Given the description of an element on the screen output the (x, y) to click on. 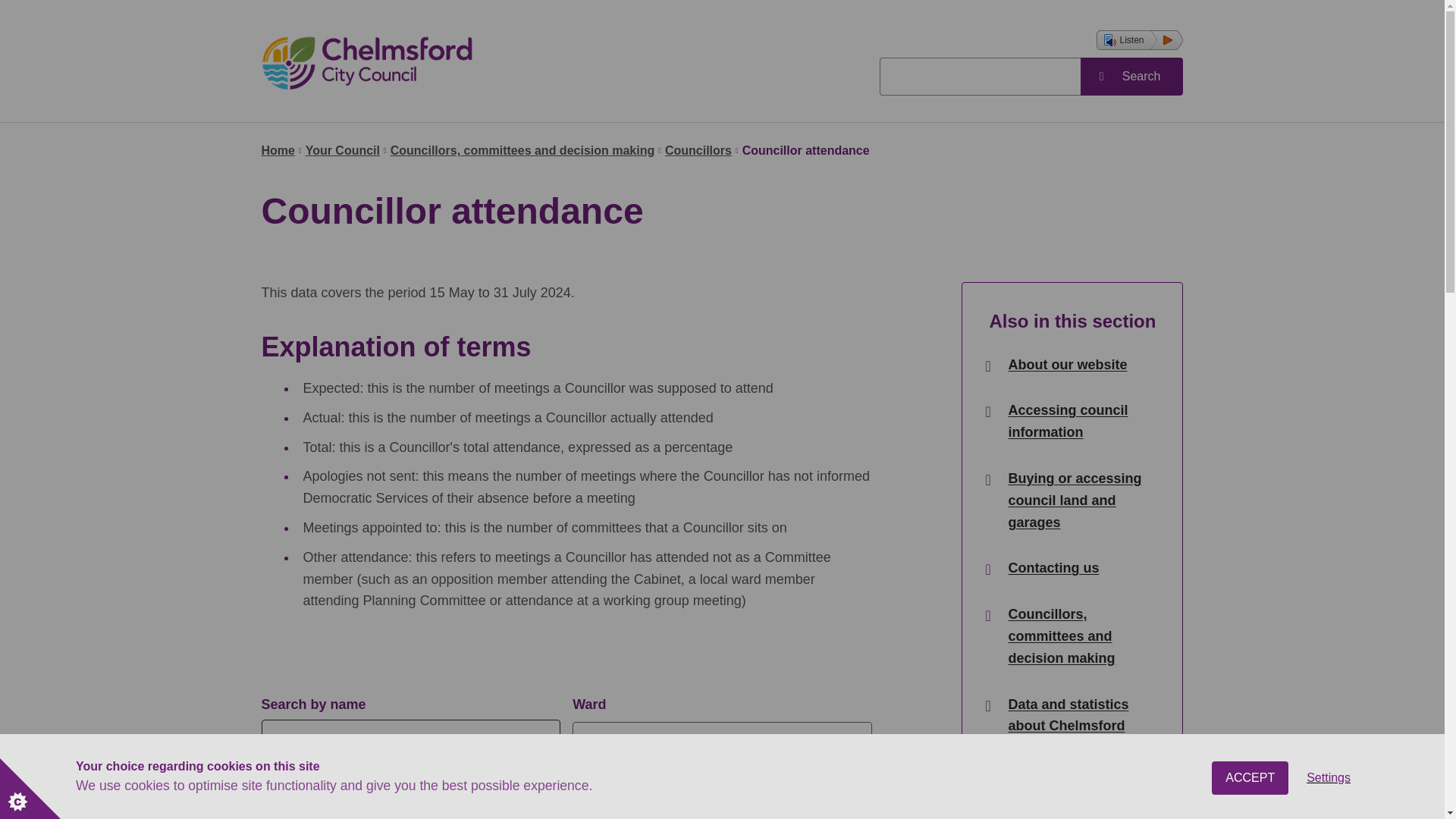
Contacting us (1053, 568)
Buying or accessing council land and garages (1081, 500)
Your Council (342, 150)
Home (277, 150)
Finance, budgets and transparency (1081, 783)
ACCEPT (1249, 815)
Councillors, committees and decision making (1081, 636)
Chelmsford City Council (448, 63)
Data and statistics about Chelmsford (1081, 715)
Councillors (698, 150)
